Given the description of an element on the screen output the (x, y) to click on. 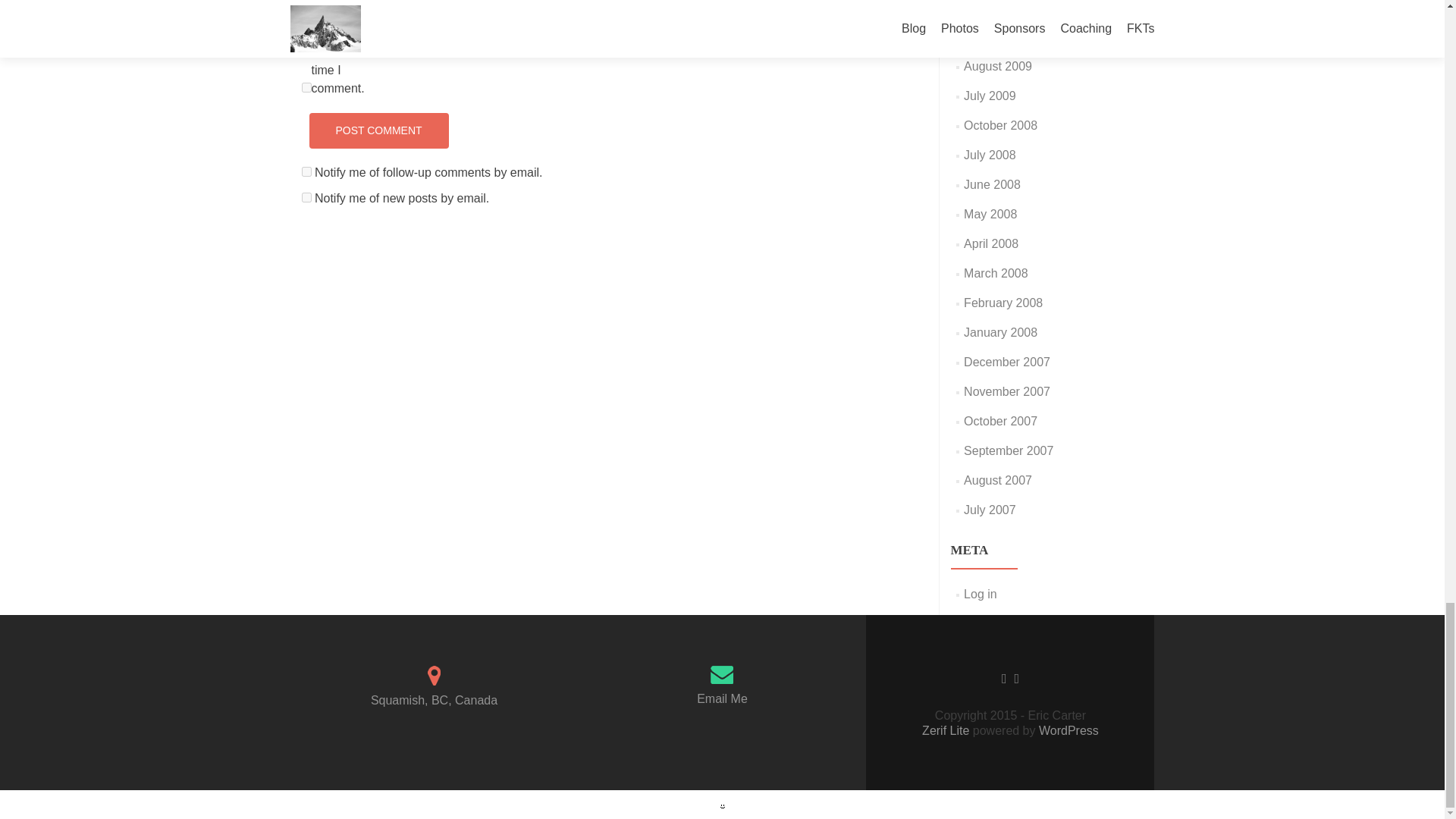
subscribe (306, 171)
Post Comment (378, 130)
yes (306, 87)
subscribe (306, 197)
